Given the description of an element on the screen output the (x, y) to click on. 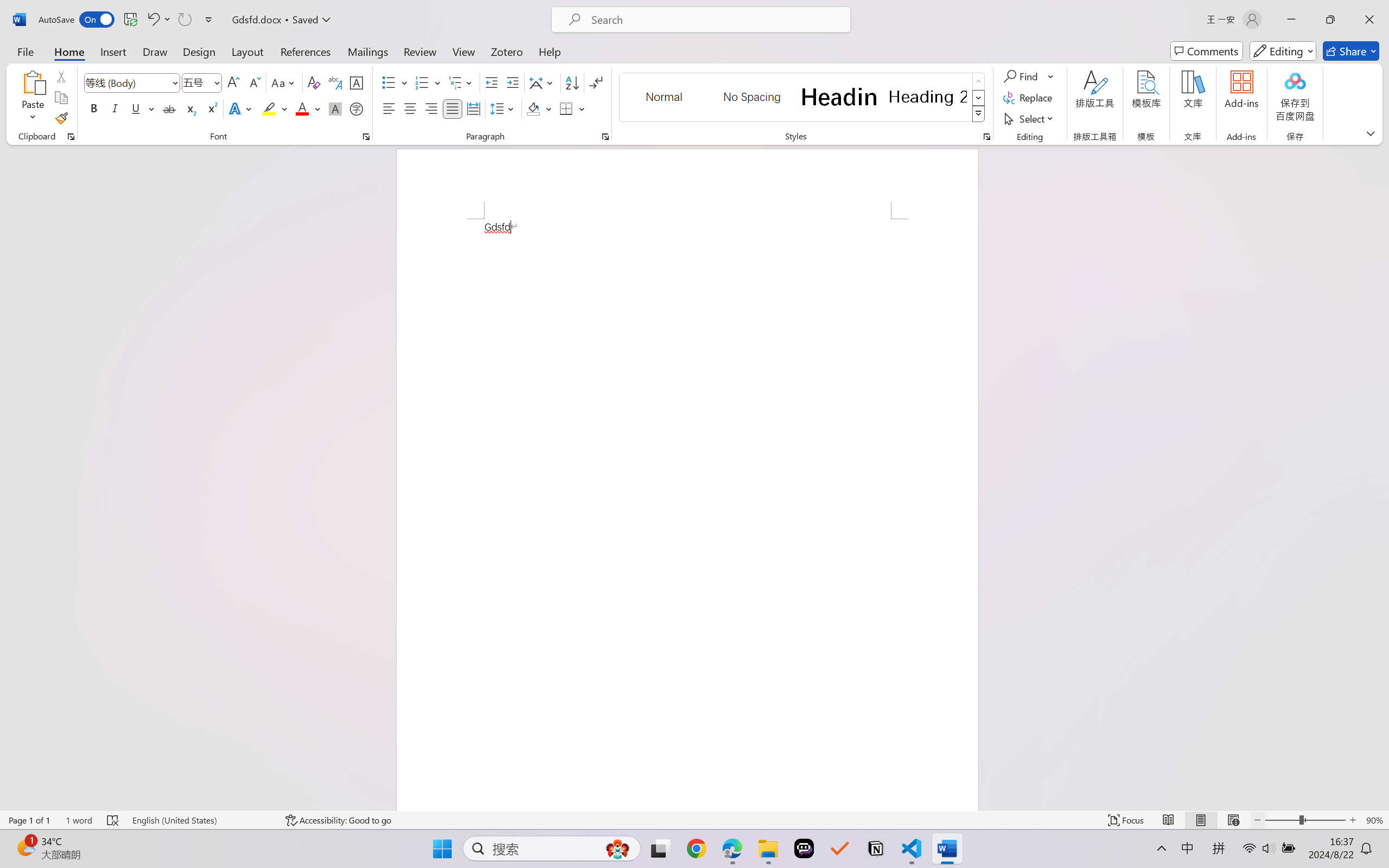
Text Highlight Color Yellow (269, 108)
Shading RGB(0, 0, 0) (533, 108)
Show/Hide Editing Marks (595, 82)
Replace... (1029, 97)
